Given the description of an element on the screen output the (x, y) to click on. 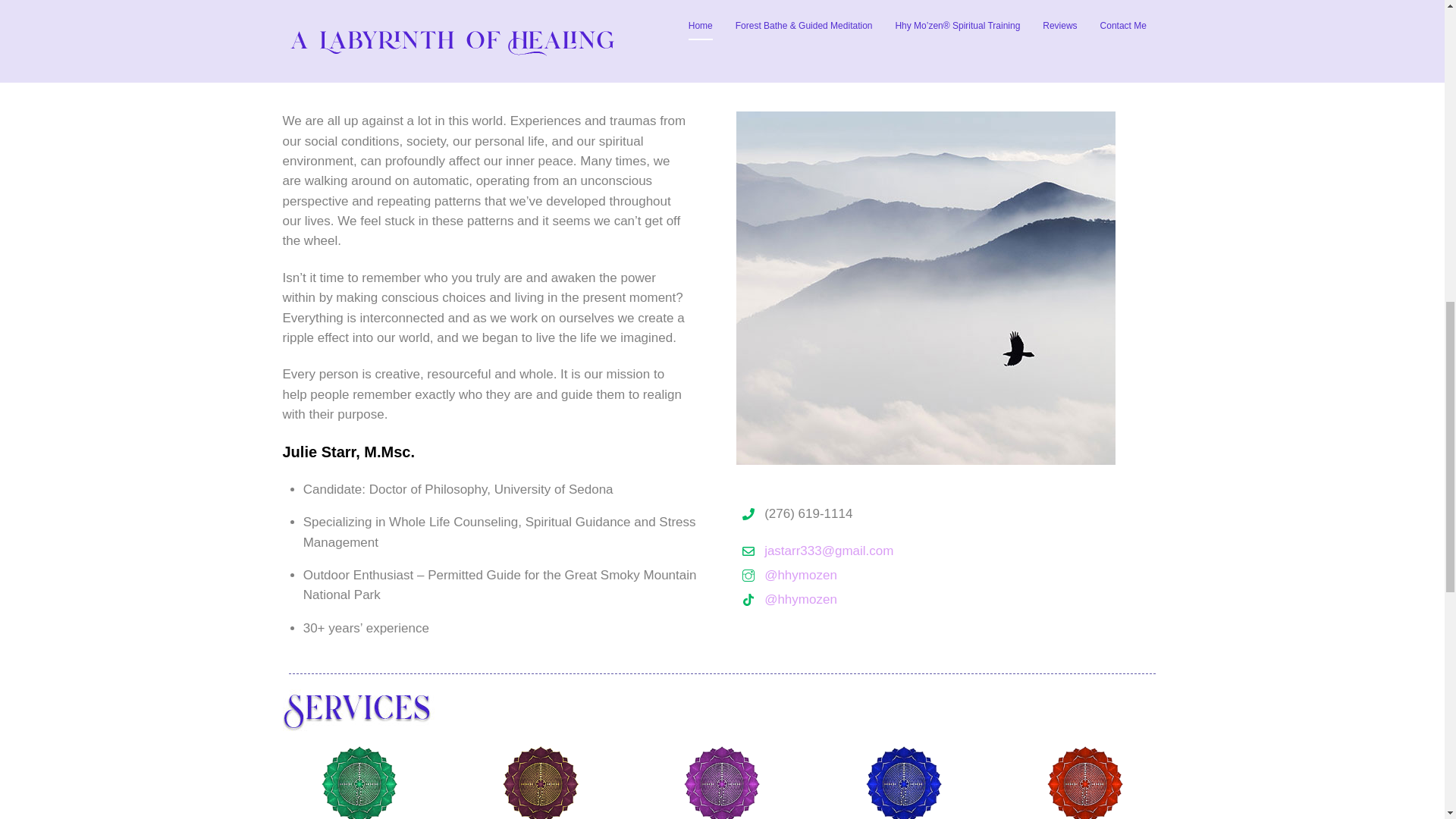
Home (406, 710)
